Given the description of an element on the screen output the (x, y) to click on. 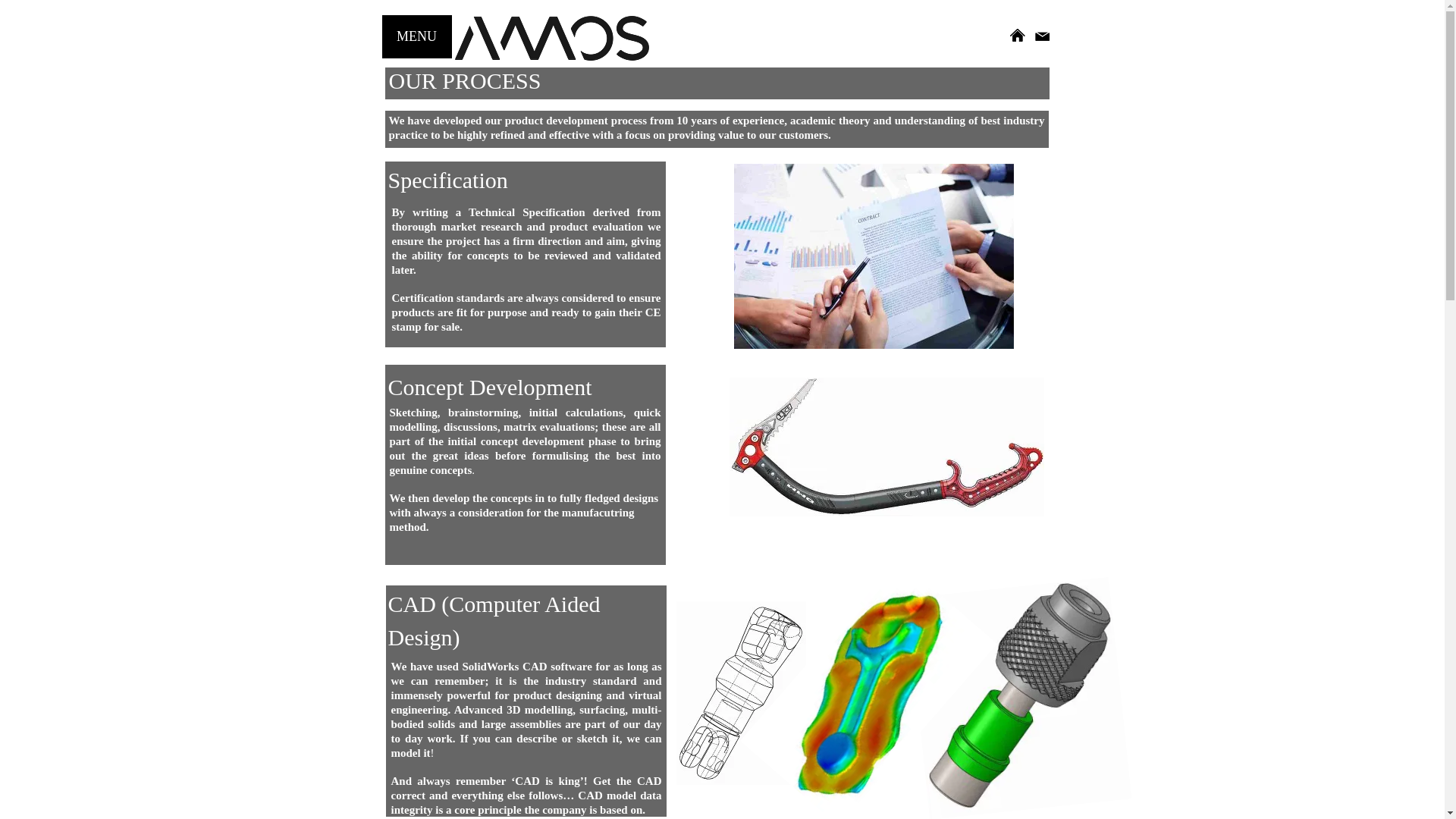
MENU (416, 36)
